Given the description of an element on the screen output the (x, y) to click on. 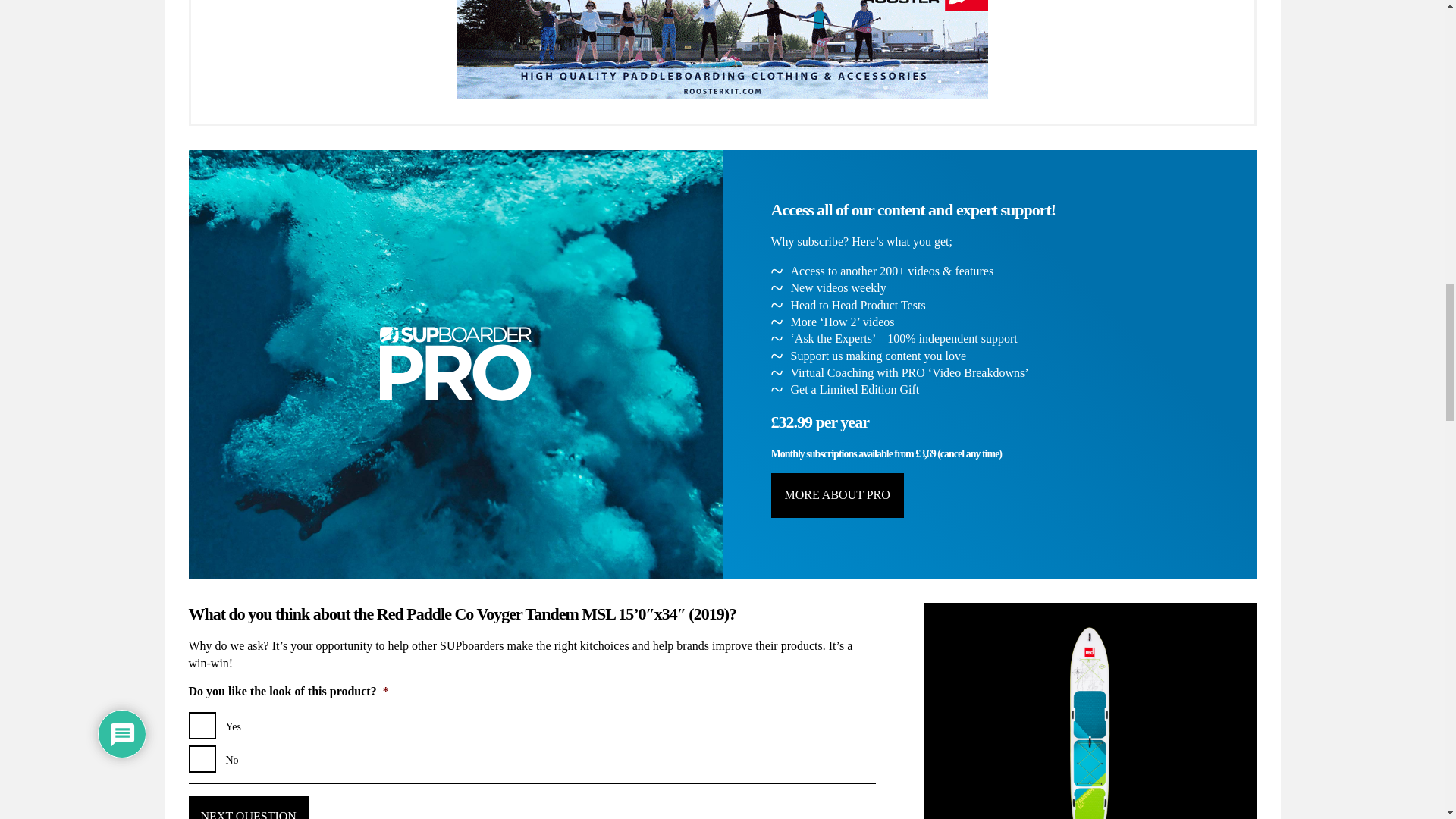
No (201, 759)
Next Question (247, 807)
Yes (201, 725)
